Given the description of an element on the screen output the (x, y) to click on. 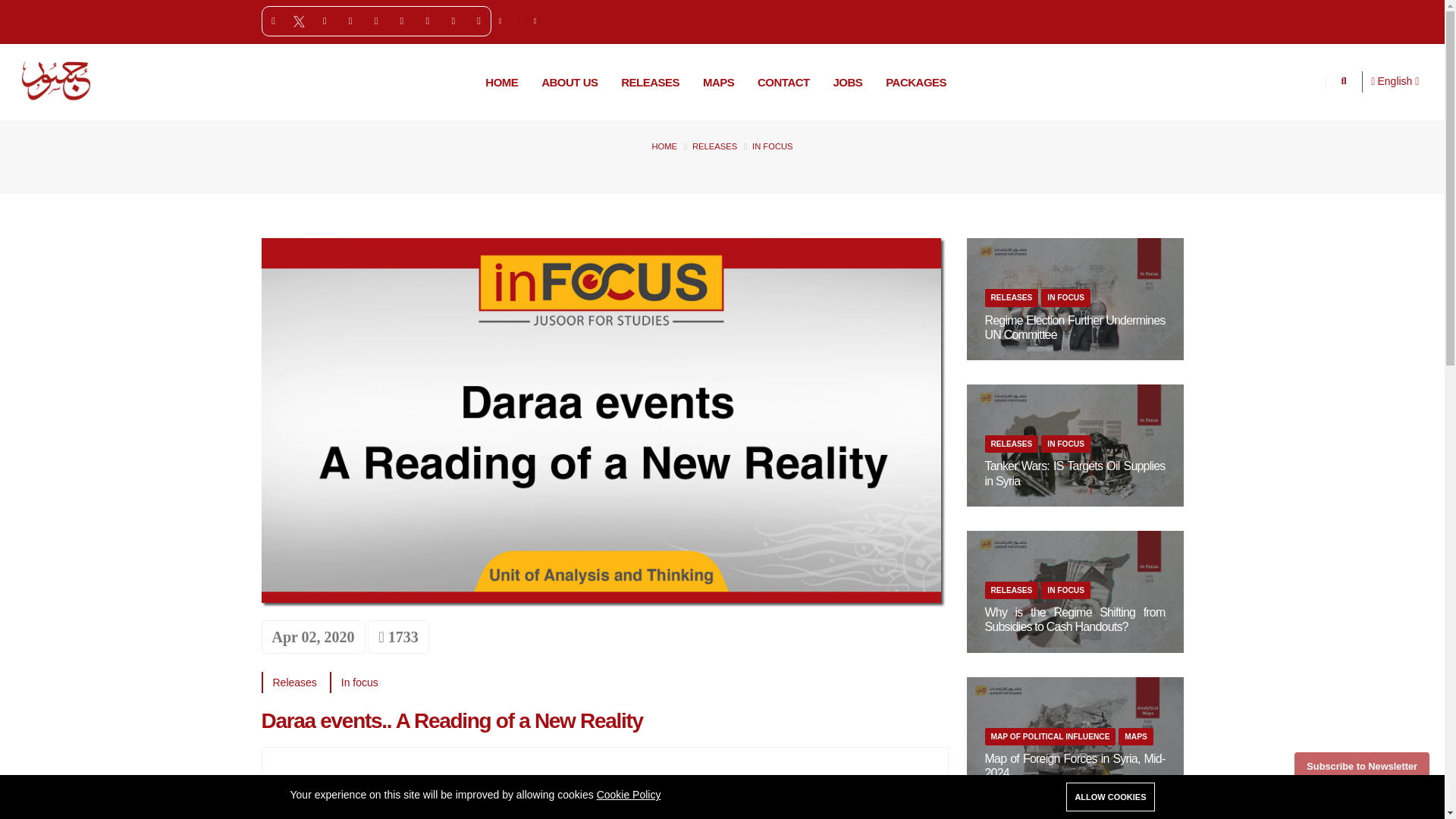
English (1398, 81)
Telegram (401, 21)
Releases (295, 682)
Daraa events.. A Reading of a New Reality (451, 720)
Facebook (273, 21)
In focus (359, 682)
PACKAGES (916, 82)
Youtube (350, 21)
RELEASES (714, 145)
RELEASES (650, 82)
linkedin (427, 21)
CONTACT (783, 82)
Whatsapp (376, 21)
HOME (663, 145)
